Given the description of an element on the screen output the (x, y) to click on. 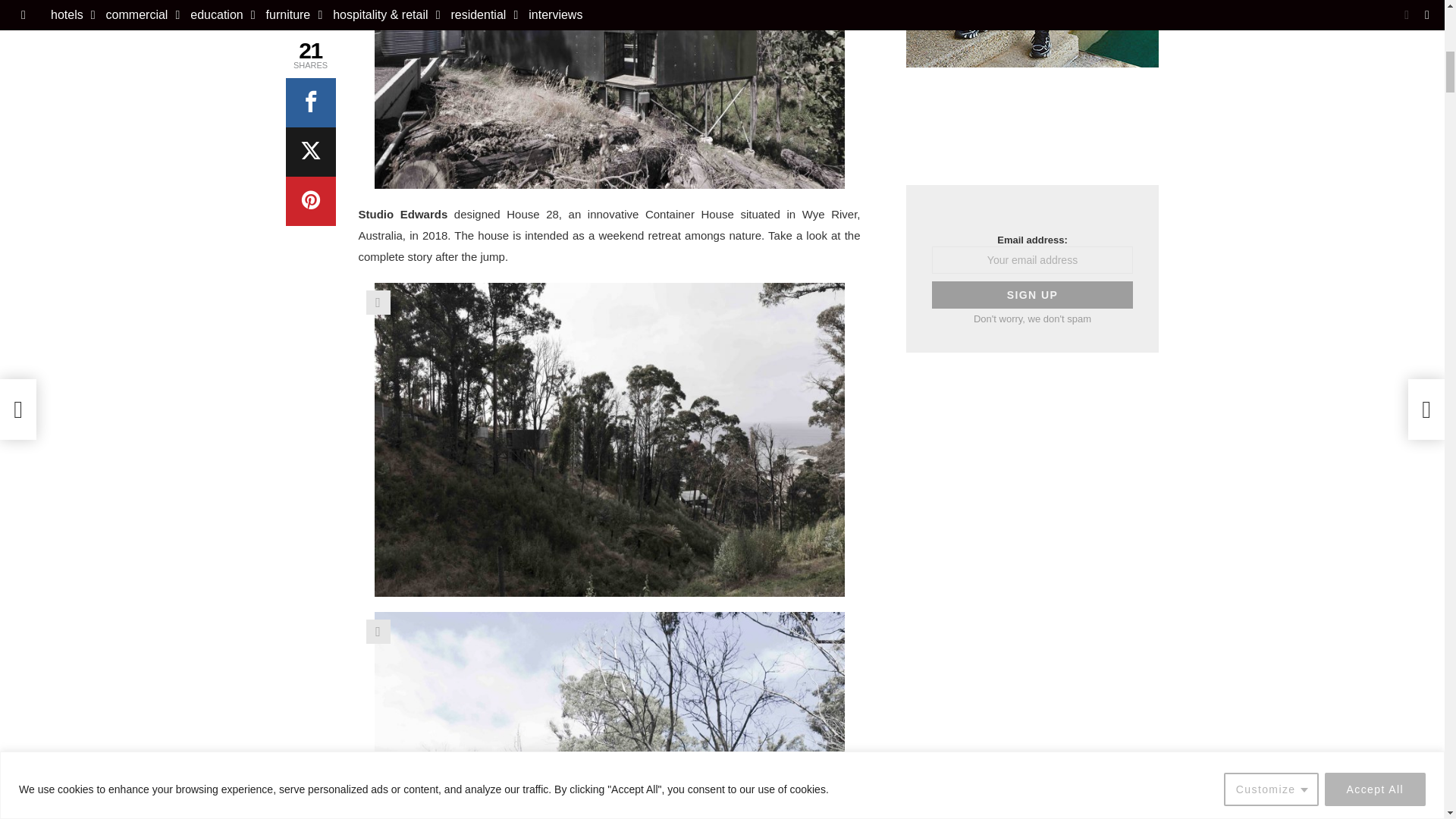
Sign up (1031, 294)
